Given the description of an element on the screen output the (x, y) to click on. 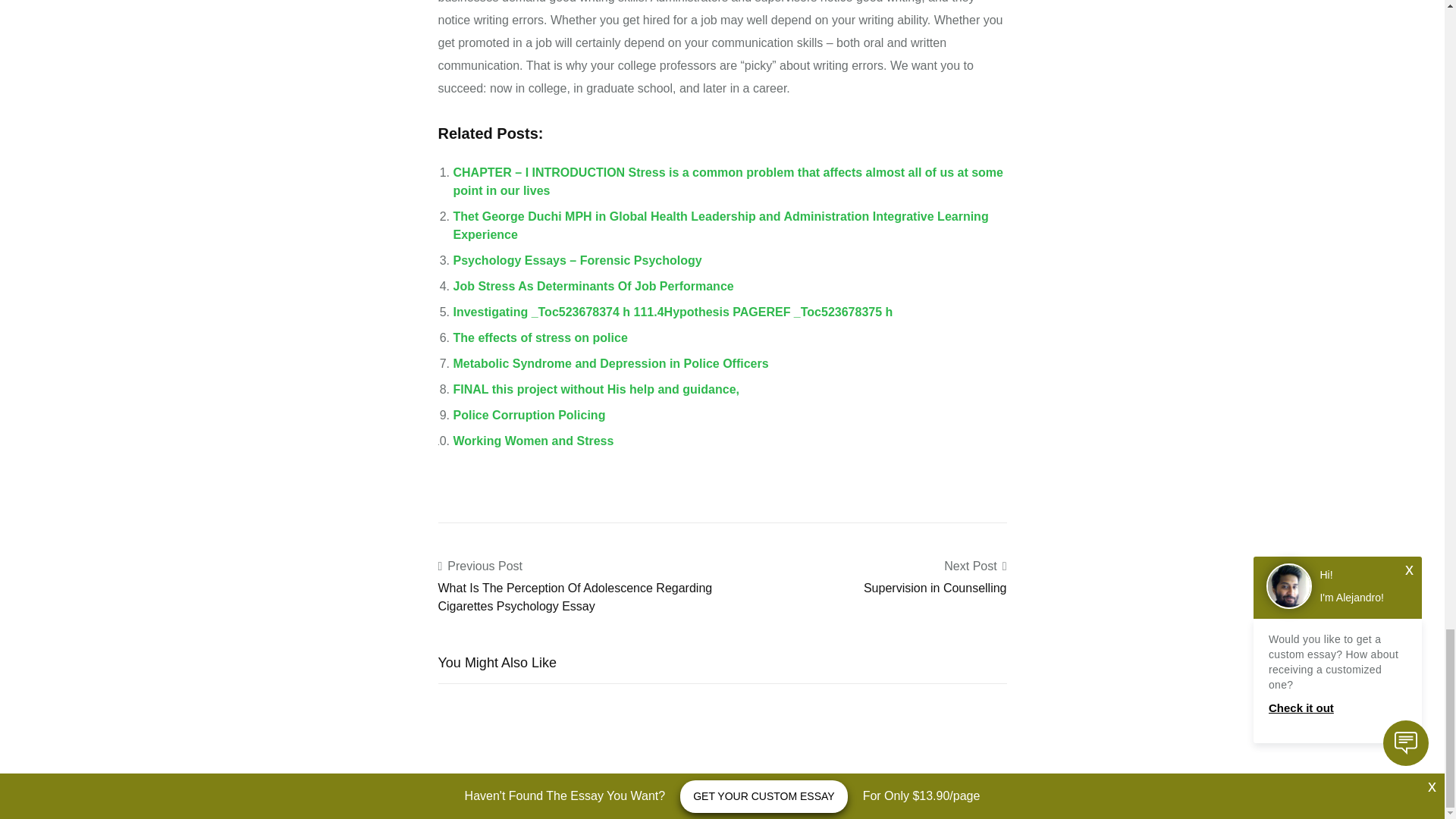
Working Women and Stress (533, 440)
The effects of stress on police (539, 337)
FINAL this project without His help and guidance, (595, 389)
Job Stress As Determinants Of Job Performance (592, 286)
Supervision in Counselling (935, 587)
Working Women and Stress (533, 440)
Metabolic Syndrome and Depression in Police Officers (610, 363)
The effects of stress on police (539, 337)
Police Corruption Policing (528, 414)
FINAL this project without His help and guidance, (595, 389)
Police Corruption Policing (528, 414)
Job Stress As Determinants Of Job Performance (592, 286)
